Given the description of an element on the screen output the (x, y) to click on. 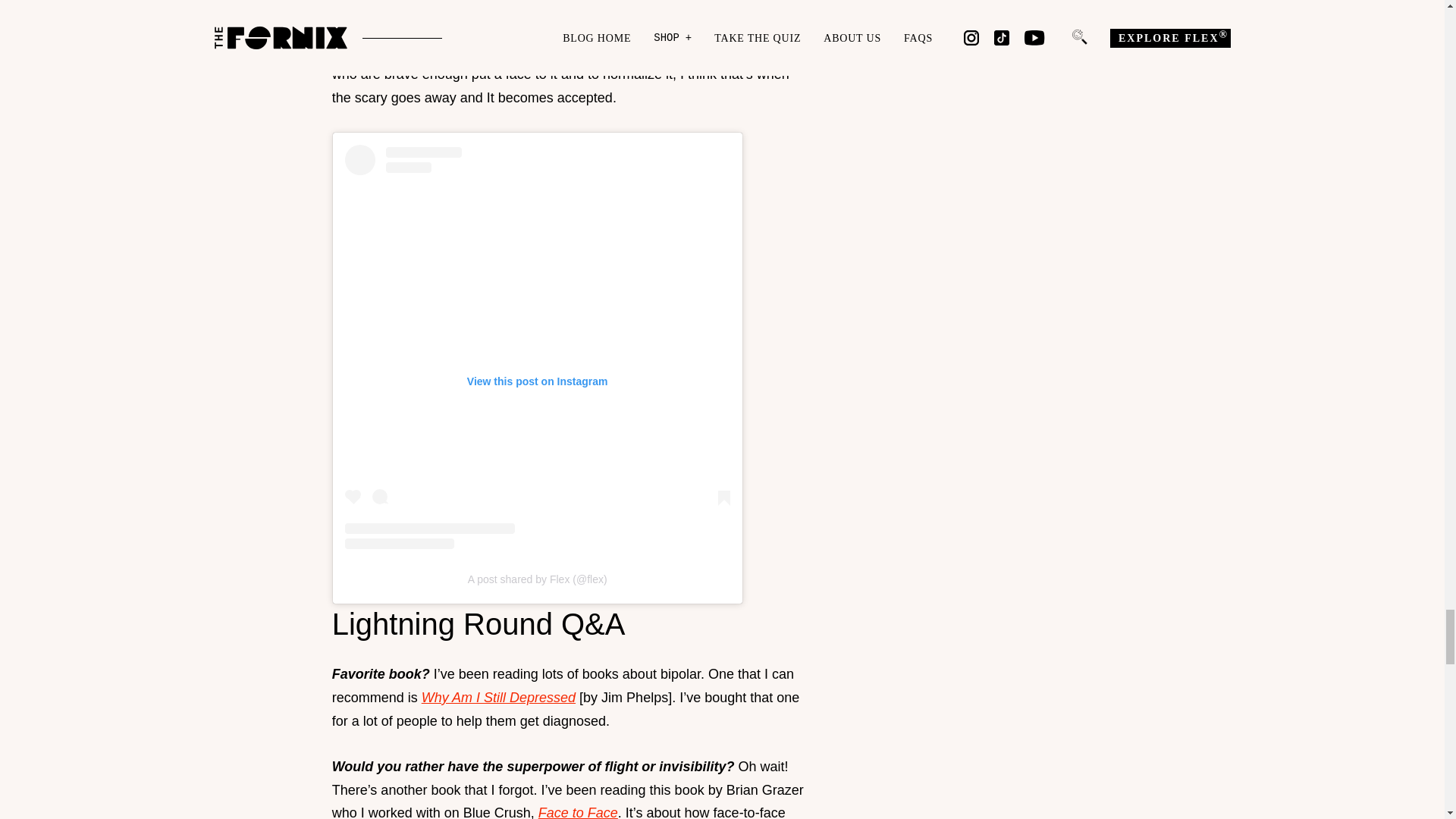
Face to Face (577, 812)
Why Am I Still Depressed (498, 697)
